Given the description of an element on the screen output the (x, y) to click on. 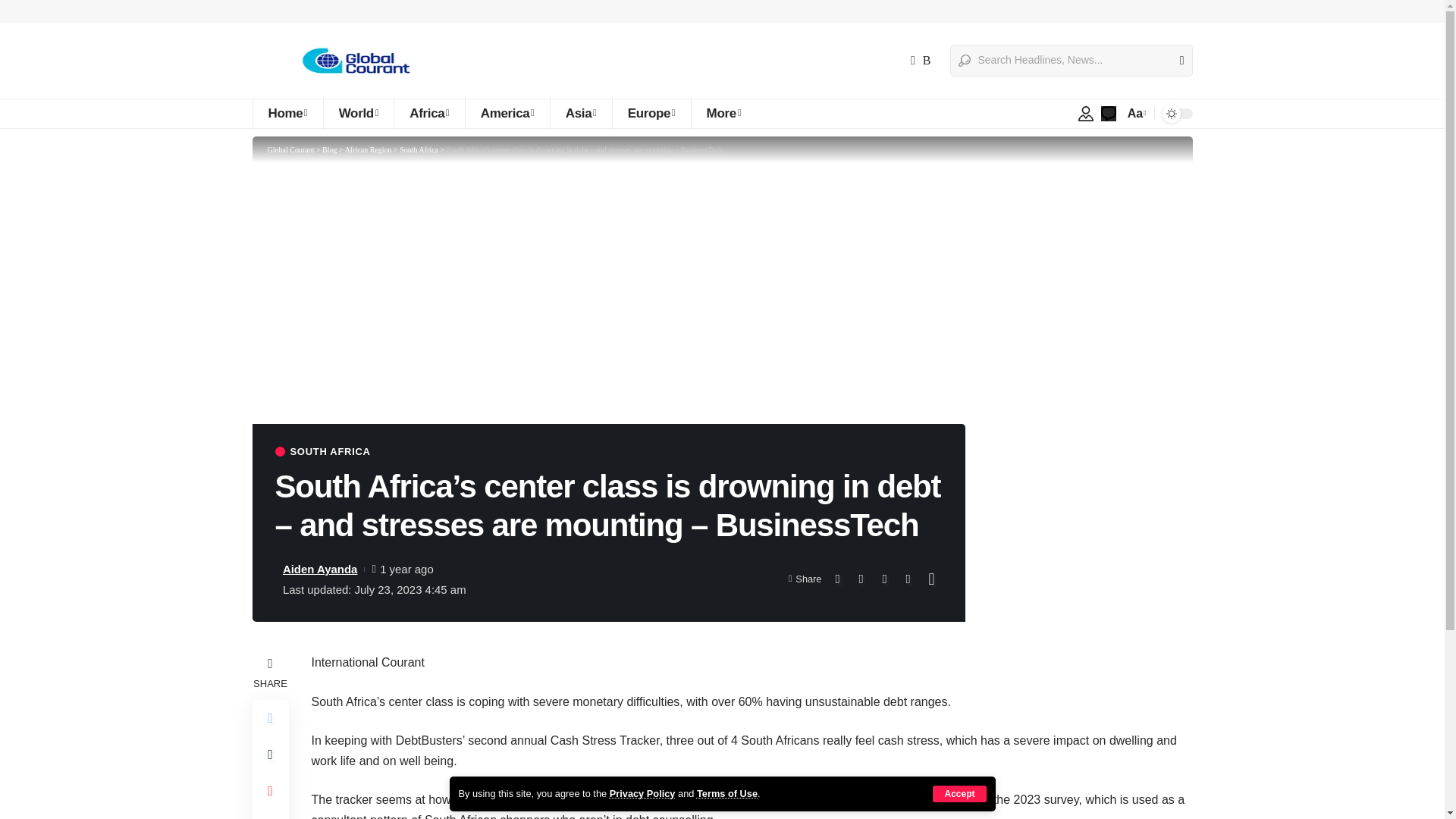
Search (1175, 60)
Home (286, 113)
Go to the South Africa Category archives. (418, 149)
Europe (650, 113)
Terms of Use (727, 793)
Accept (959, 793)
America (507, 113)
Go to Blog. (328, 149)
Global Courant (353, 60)
Asia (580, 113)
